Given the description of an element on the screen output the (x, y) to click on. 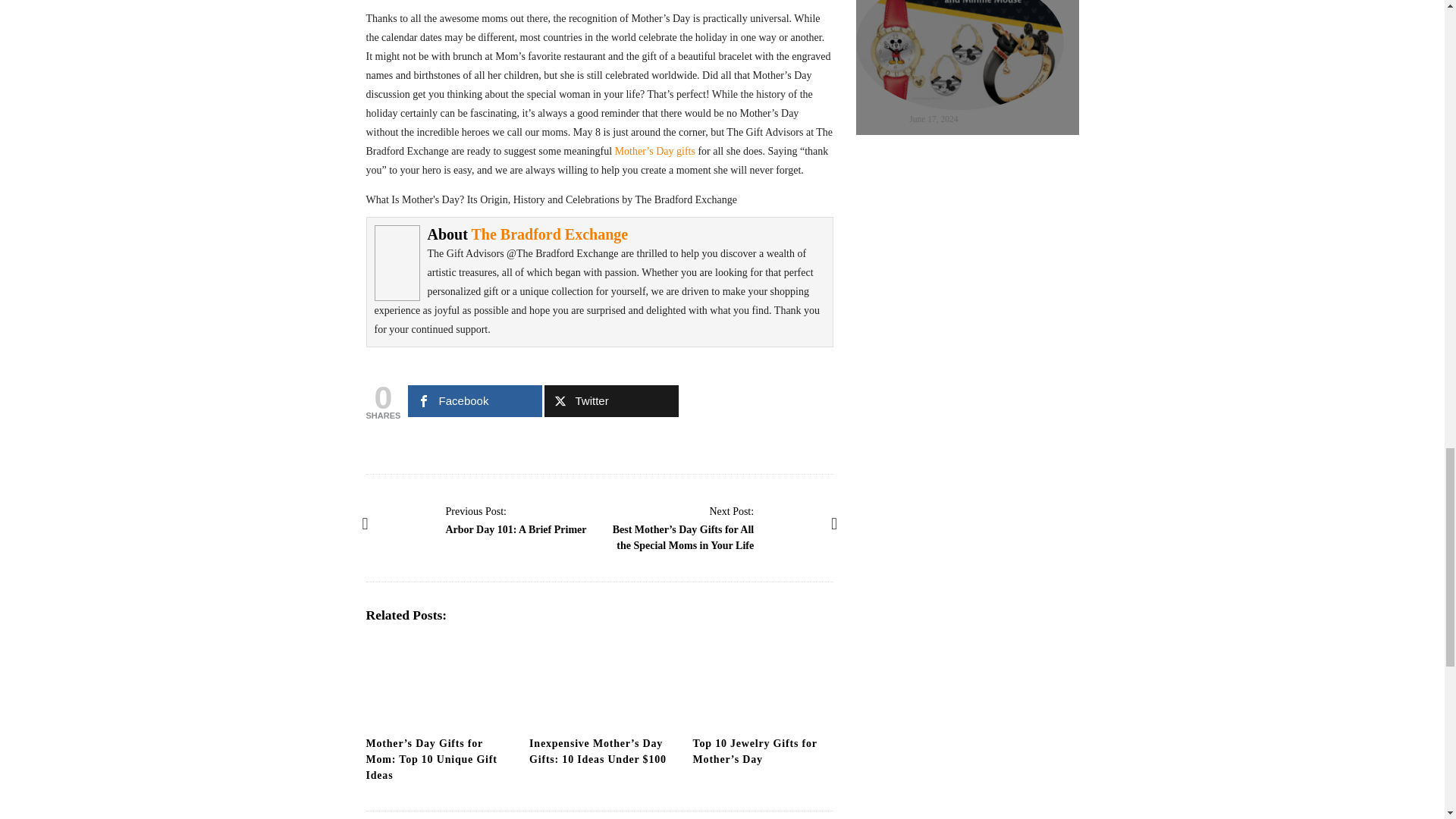
The Bradford Exchange (549, 234)
Twitter (611, 400)
Arbor Day 101: A Brief Primer (475, 510)
Arbor Day 101: A Brief Primer (407, 524)
Facebook (474, 400)
